Given the description of an element on the screen output the (x, y) to click on. 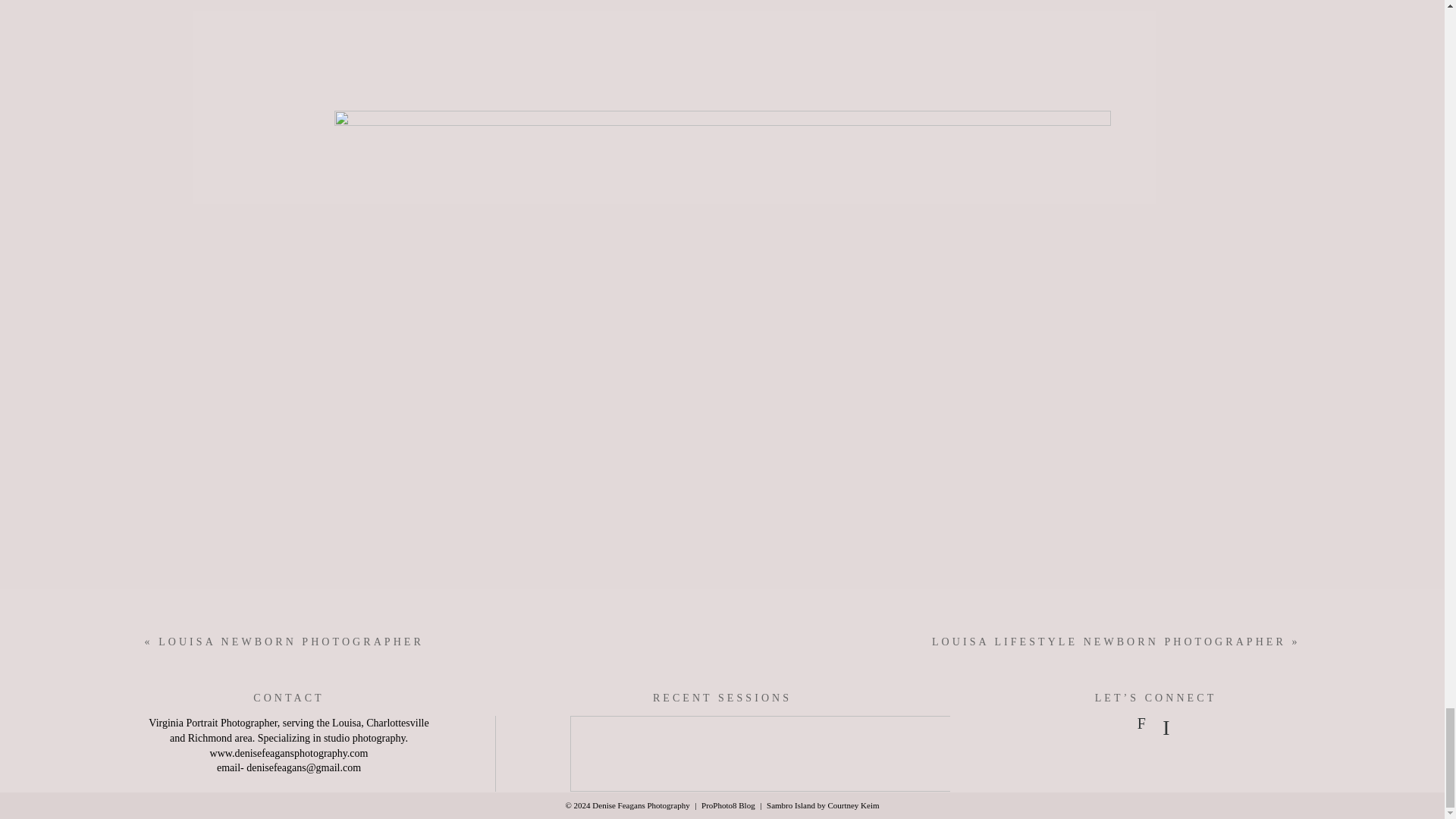
LOUISA NEWBORN PHOTOGRAPHER (290, 641)
ProPhoto Blogsite (728, 804)
LOUISA LIFESTYLE NEWBORN PHOTOGRAPHER (1108, 641)
